Given the description of an element on the screen output the (x, y) to click on. 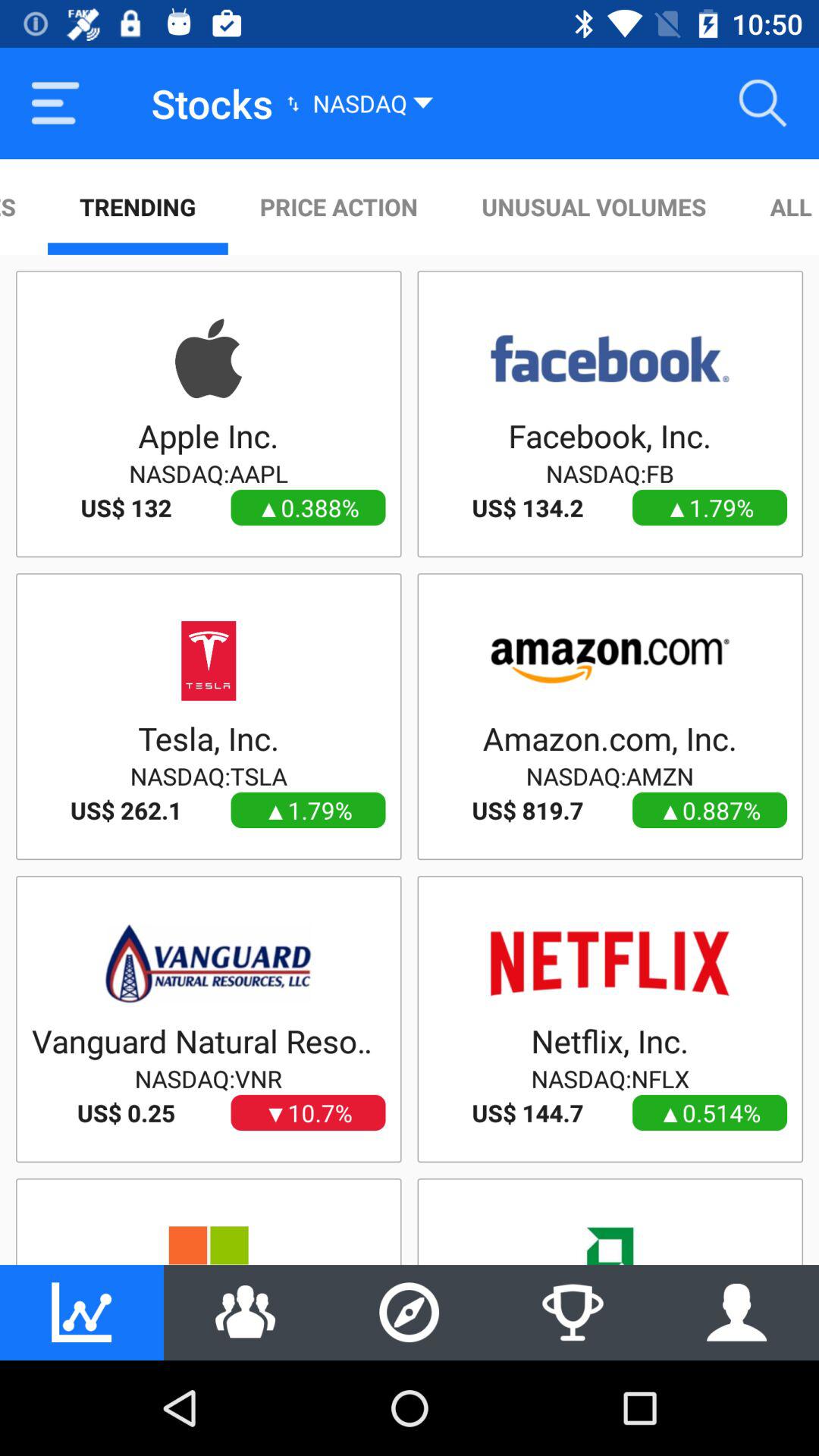
turn on the icon next to stocks item (55, 103)
